Given the description of an element on the screen output the (x, y) to click on. 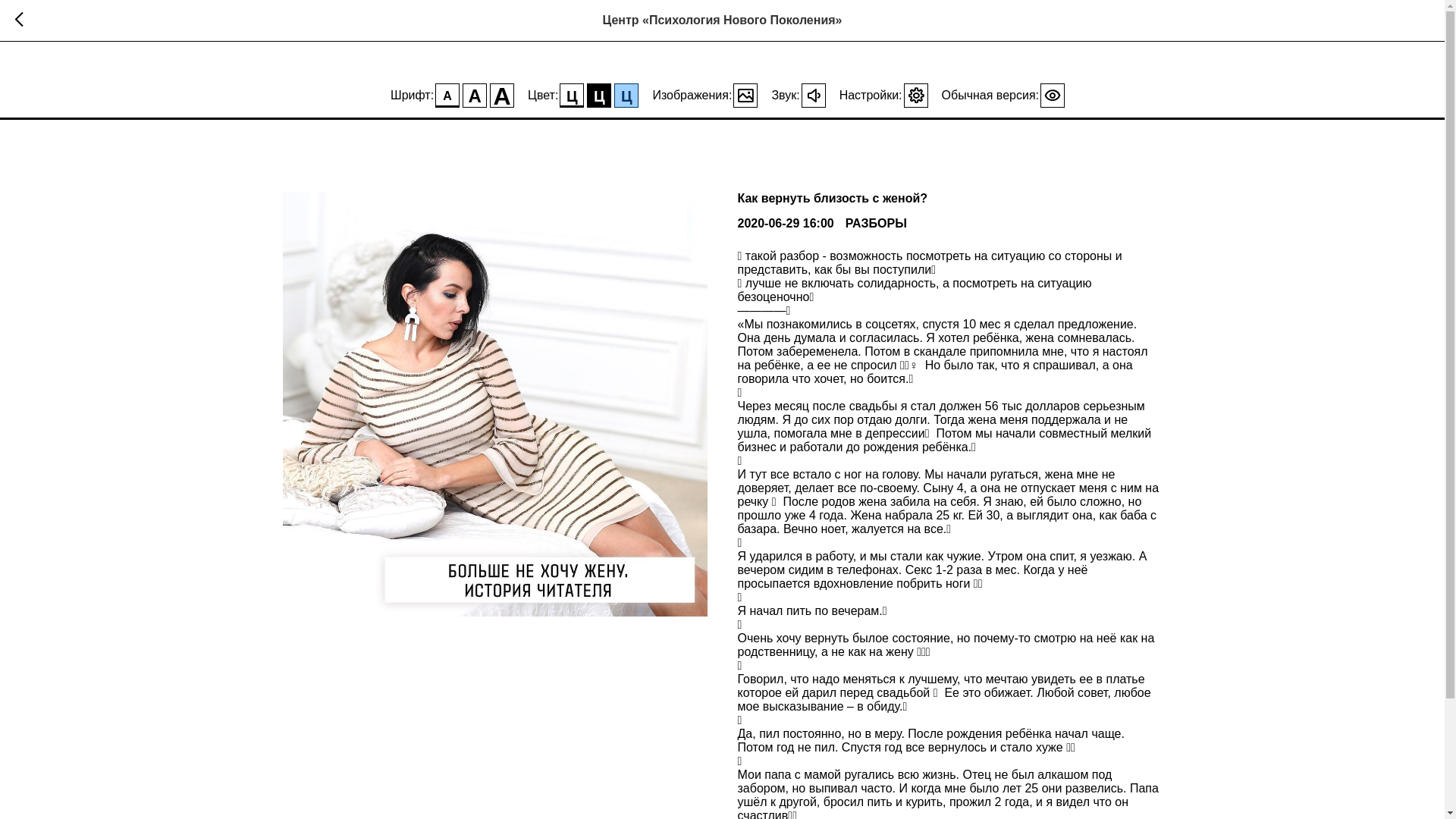
A Element type: text (501, 95)
1 Element type: text (745, 95)
0 Element type: text (813, 95)
A Element type: text (474, 95)
A Element type: text (447, 95)
